Given the description of an element on the screen output the (x, y) to click on. 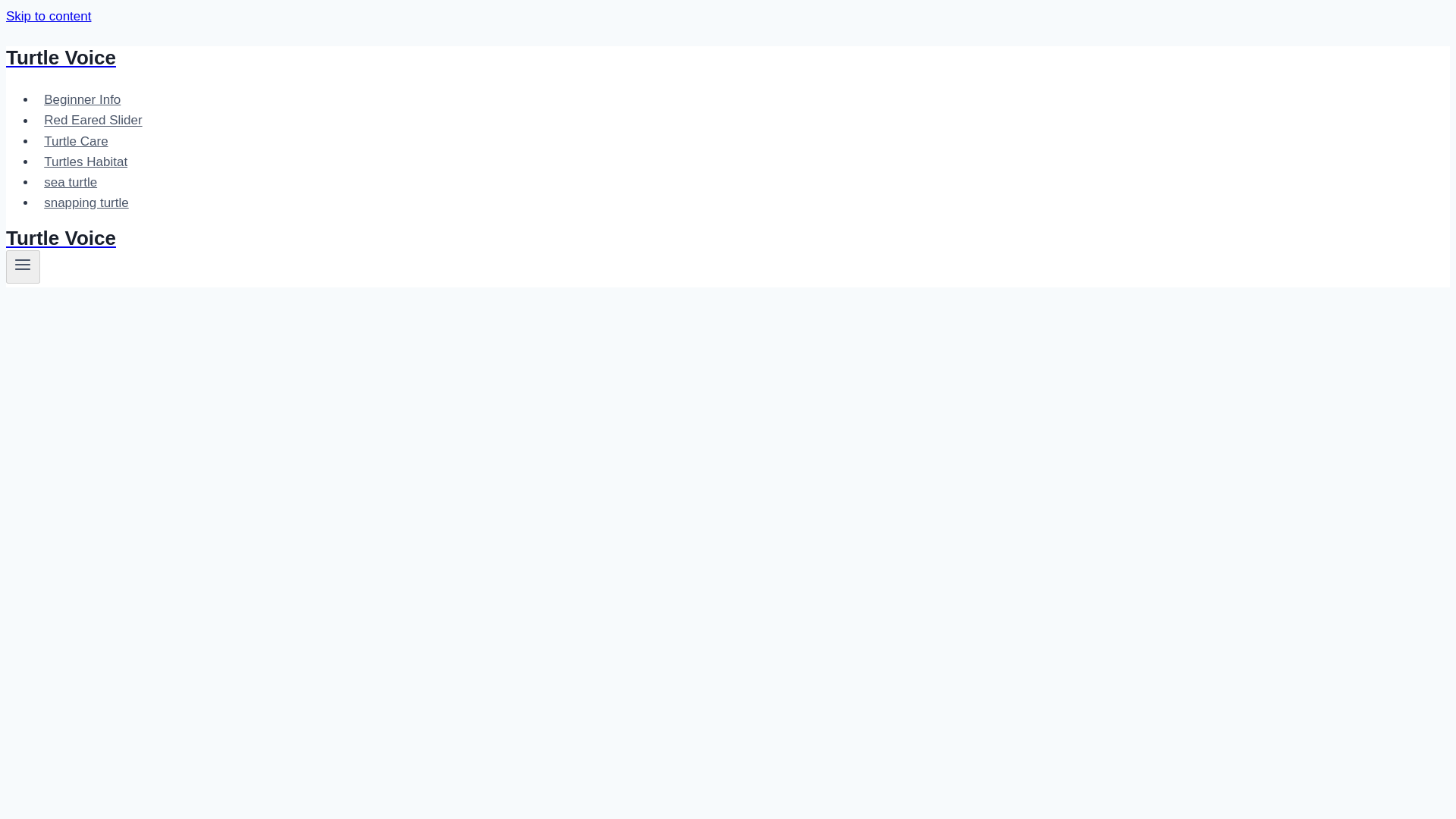
sea turtle (70, 182)
Turtle Care (76, 141)
Turtles Habitat (85, 161)
Turtle Voice (494, 57)
Skip to content (47, 16)
Toggle Menu (22, 264)
snapping turtle (86, 202)
Turtle Voice (494, 237)
Beginner Info (82, 99)
Red Eared Slider (92, 120)
Skip to content (47, 16)
